Given the description of an element on the screen output the (x, y) to click on. 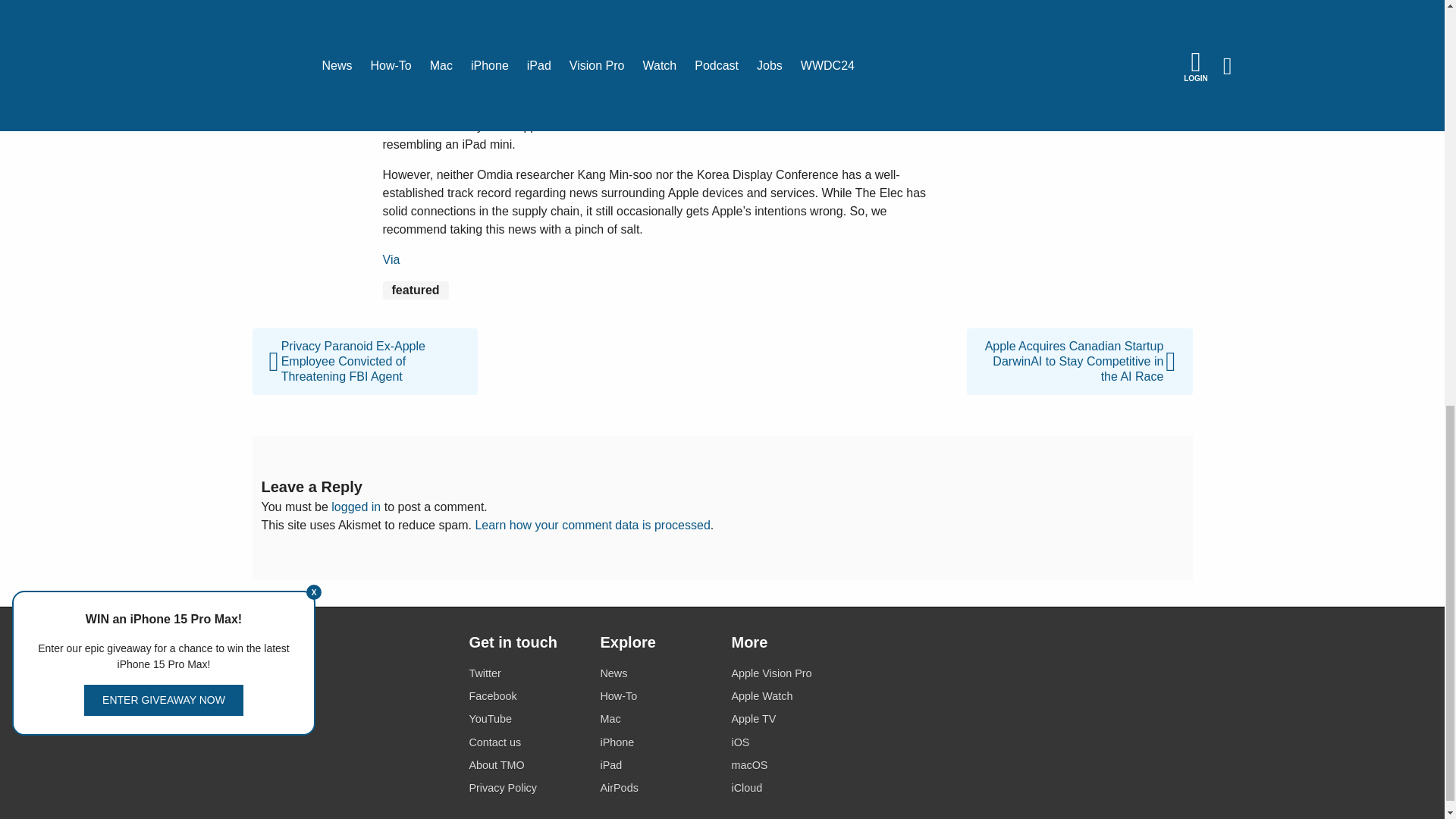
Apple TV (787, 719)
AirPods (656, 788)
featured (414, 290)
iPad (656, 765)
iPhone (656, 742)
Privacy Policy (524, 788)
YouTube (524, 719)
About TMO (524, 765)
Apple Vision Pro (787, 673)
Mac (656, 719)
logged in (355, 506)
Twitter (524, 673)
Learn how your comment data is processed (592, 524)
Contact us (524, 742)
